Given the description of an element on the screen output the (x, y) to click on. 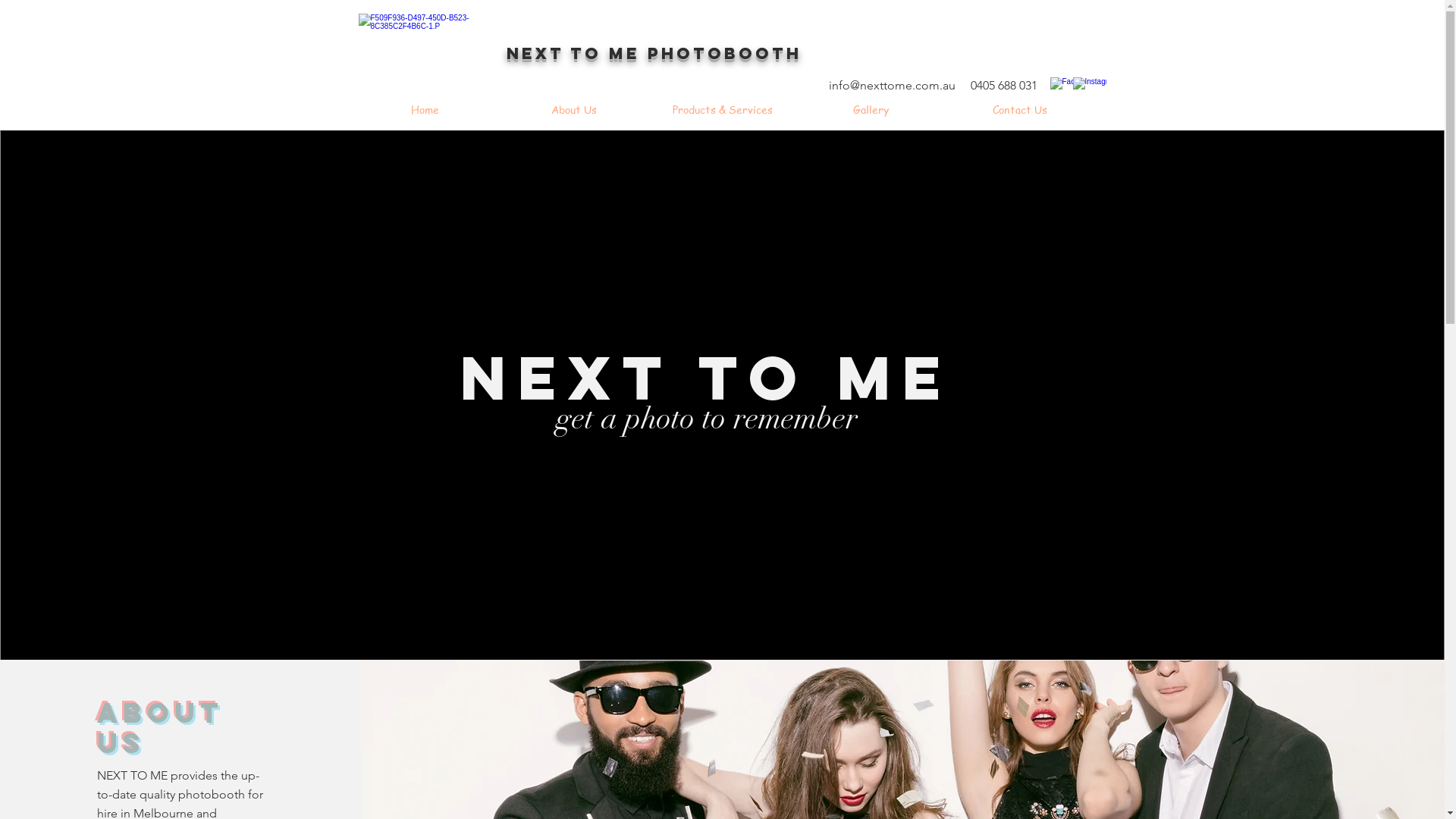
Home Element type: text (424, 109)
Contact Us Element type: text (1018, 109)
Gallery Element type: text (870, 109)
About Us Element type: text (572, 109)
info@nexttome.com.au Element type: text (891, 85)
Products & Services Element type: text (721, 109)
